Given the description of an element on the screen output the (x, y) to click on. 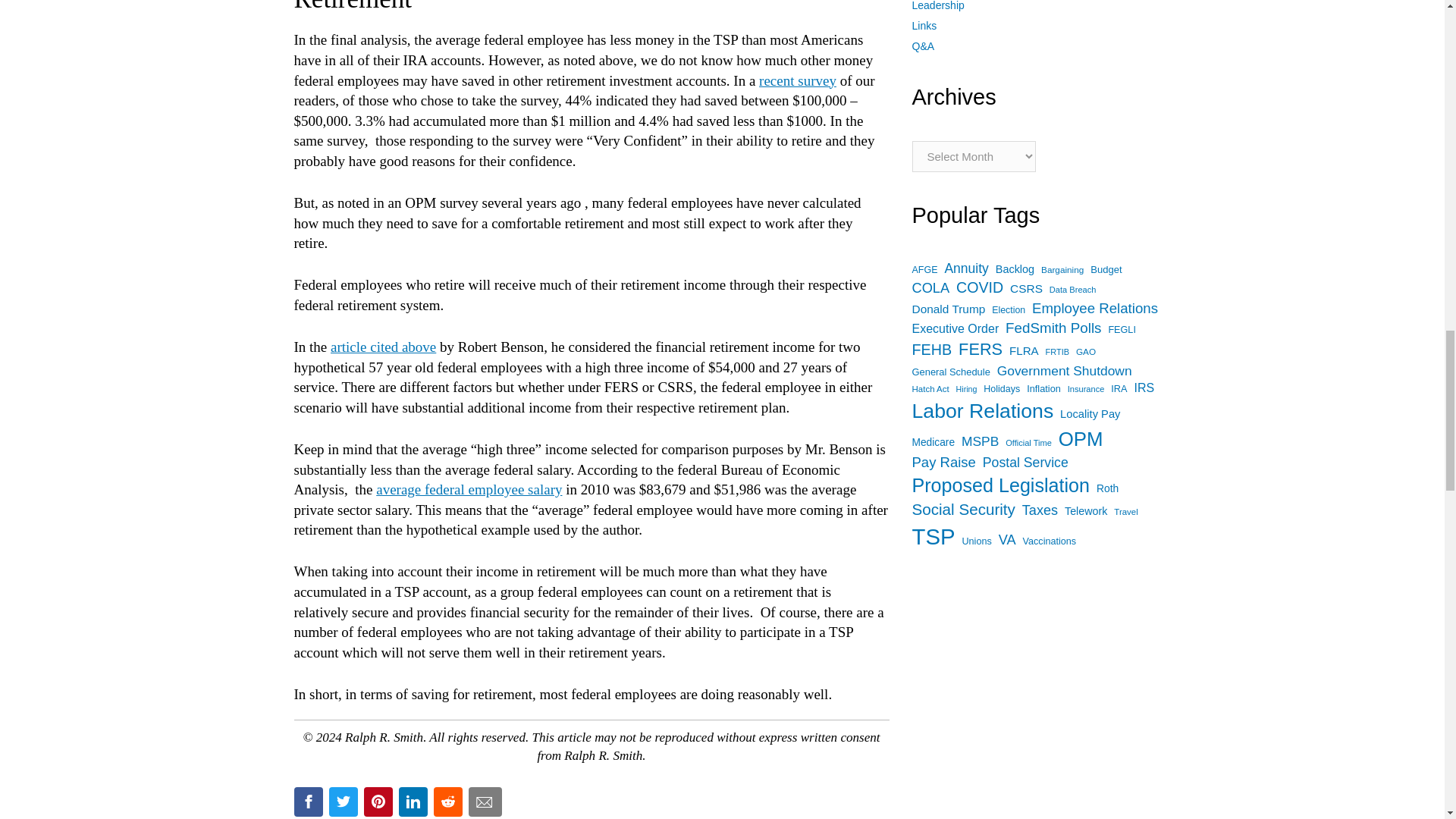
article cited above (382, 346)
Average federal employee salary in 2010 (468, 489)
FERS vs. CSRS (382, 346)
recent survey (796, 80)
average federal employee salary (468, 489)
